Given the description of an element on the screen output the (x, y) to click on. 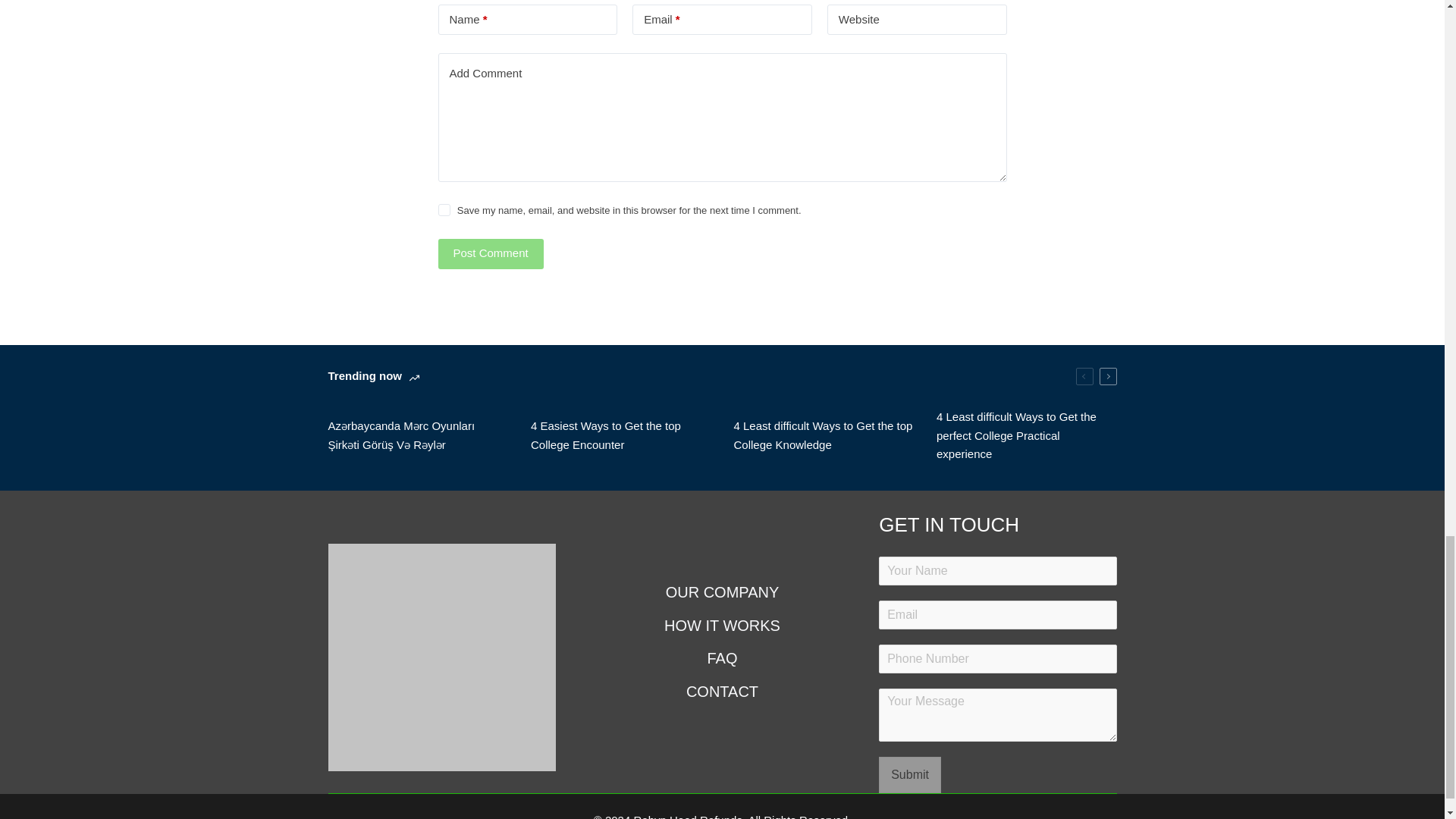
OUR COMPANY (721, 591)
Post Comment (490, 254)
4 Least difficult Ways to Get the top College Knowledge (823, 435)
yes (443, 209)
Submit (909, 774)
4 Easiest Ways to Get the top College Encounter (621, 435)
FAQ (721, 658)
HOW IT WORKS (721, 625)
CONTACT (721, 691)
